Given the description of an element on the screen output the (x, y) to click on. 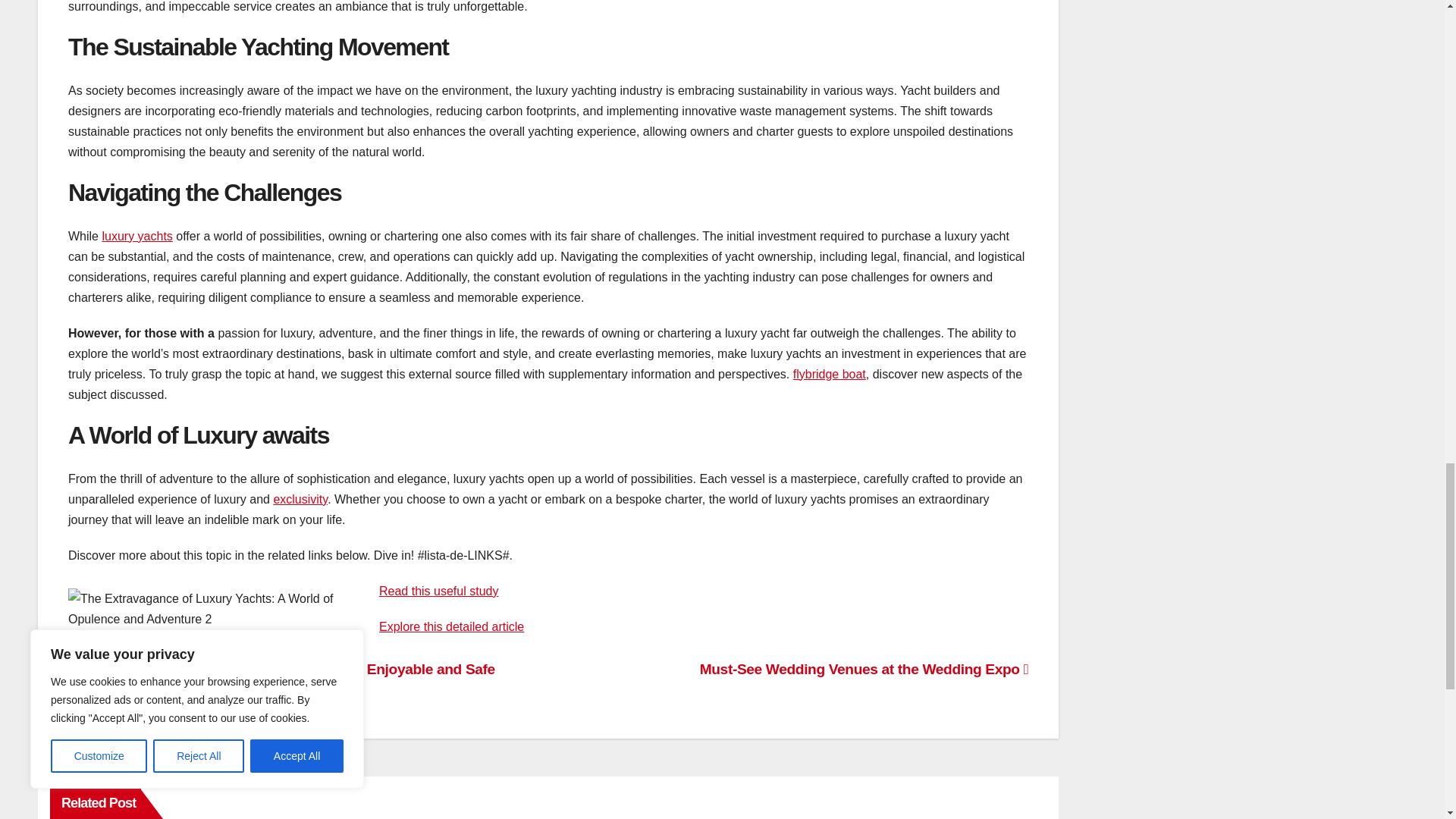
exclusivity (300, 499)
flybridge boat (829, 373)
luxury yachts (136, 236)
Read this useful study (437, 590)
Must-See Wedding Venues at the Wedding Expo (864, 668)
Explore this detailed article (451, 626)
